Given the description of an element on the screen output the (x, y) to click on. 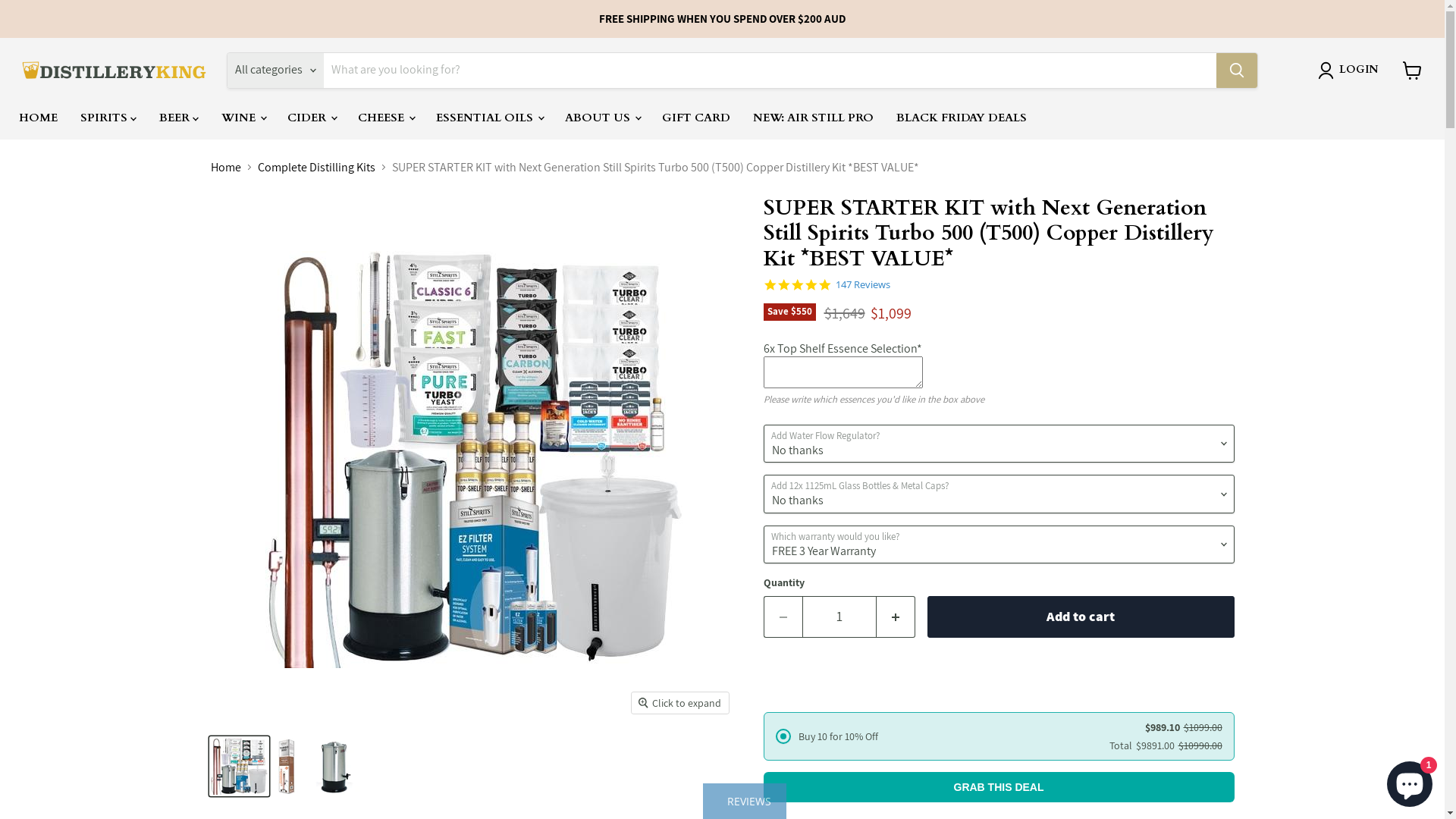
Shopify online store chat Element type: hover (1409, 780)
Home Element type: text (225, 167)
Click to expand Element type: text (679, 702)
LOGIN Element type: text (1350, 70)
GRAB THIS DEAL Element type: text (997, 786)
147 Reviews Element type: text (862, 284)
BLACK FRIDAY DEALS Element type: text (961, 117)
Add to cart Element type: text (1079, 616)
GIFT CARD Element type: text (695, 117)
NEW: AIR STILL PRO Element type: text (812, 117)
HOME Element type: text (38, 117)
View cart Element type: text (1412, 69)
Complete Distilling Kits Element type: text (316, 167)
